Given the description of an element on the screen output the (x, y) to click on. 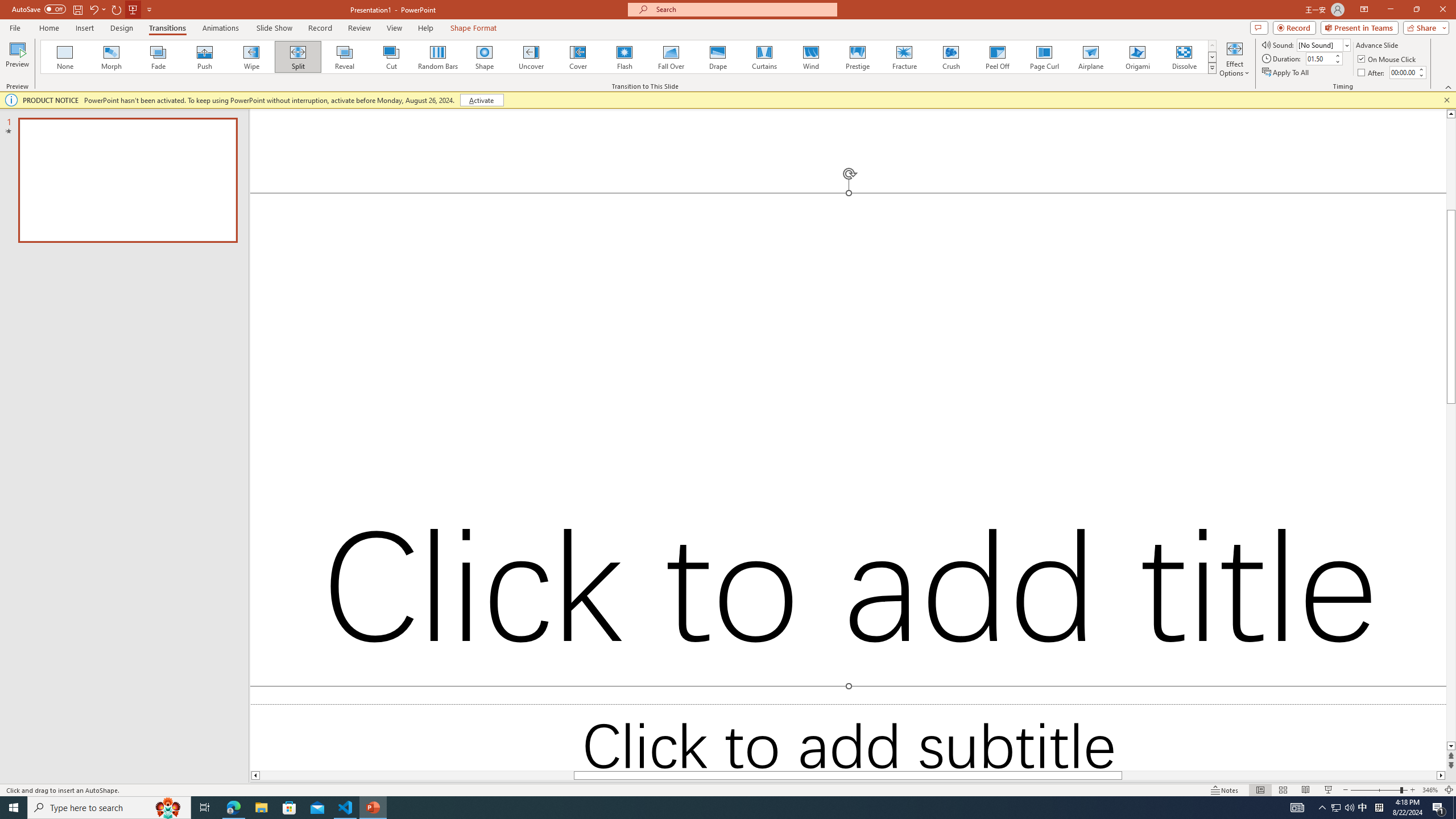
Zoom 75% (1438, 773)
Align Left (407, 102)
Options... (1411, 745)
Cut (63, 72)
566ba9ff-a5b0-4b6f-bbdf-c3ab41993fc2 (1369, 217)
acbfdd8b-e11b-4d36-88ff-6049b138f862 (1369, 234)
Can't Undo (159, 18)
Heading 3 (1369, 332)
Bold (98, 102)
Copy (63, 91)
